Given the description of an element on the screen output the (x, y) to click on. 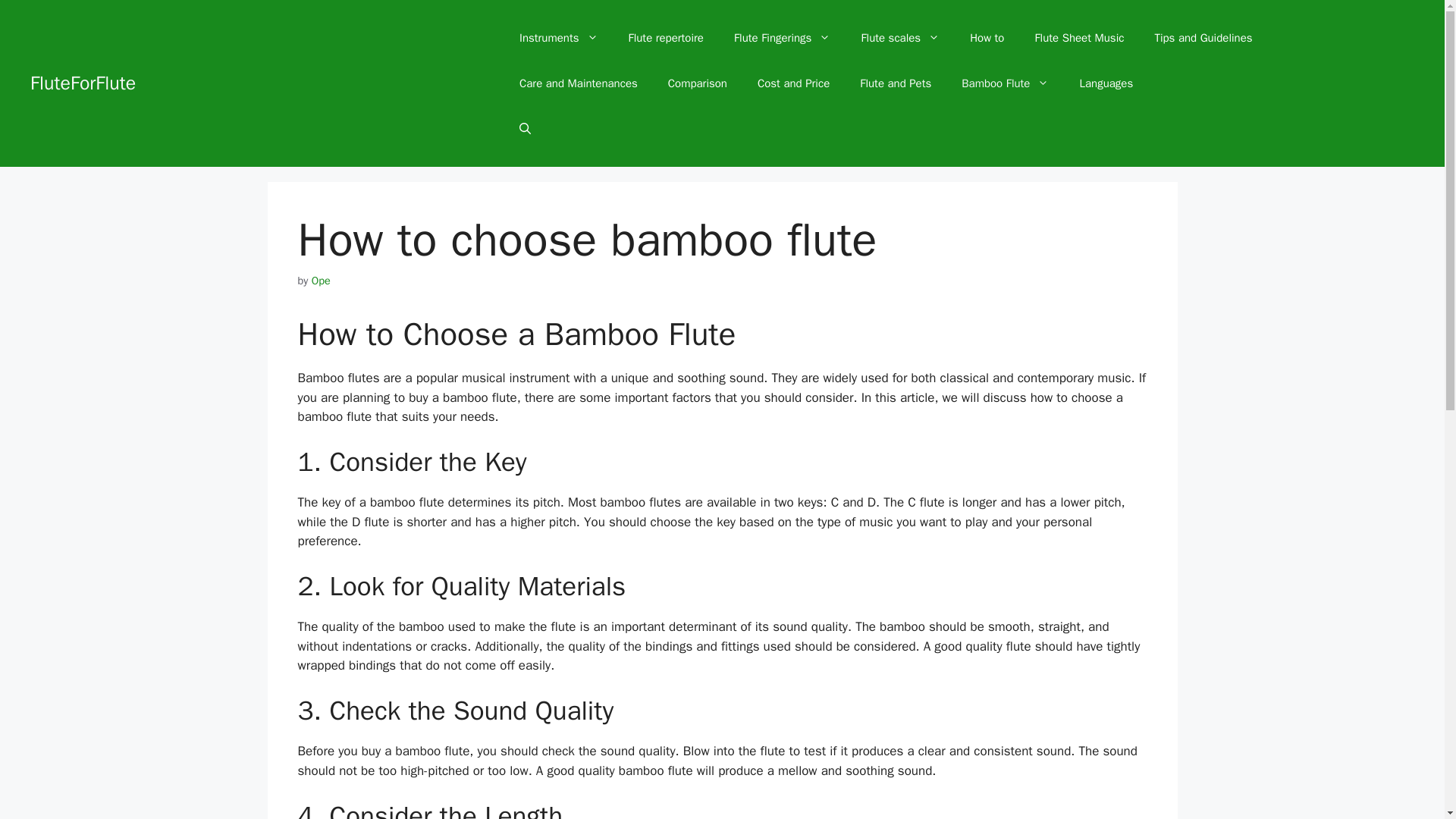
Ope (320, 280)
Flute Sheet Music (1078, 37)
View all posts by Ope (320, 280)
Flute and Pets (895, 83)
Care and Maintenances (577, 83)
Languages (1106, 83)
Cost and Price (793, 83)
Bamboo Flute (1005, 83)
Flute Fingerings (782, 37)
FluteForFlute (82, 83)
